Given the description of an element on the screen output the (x, y) to click on. 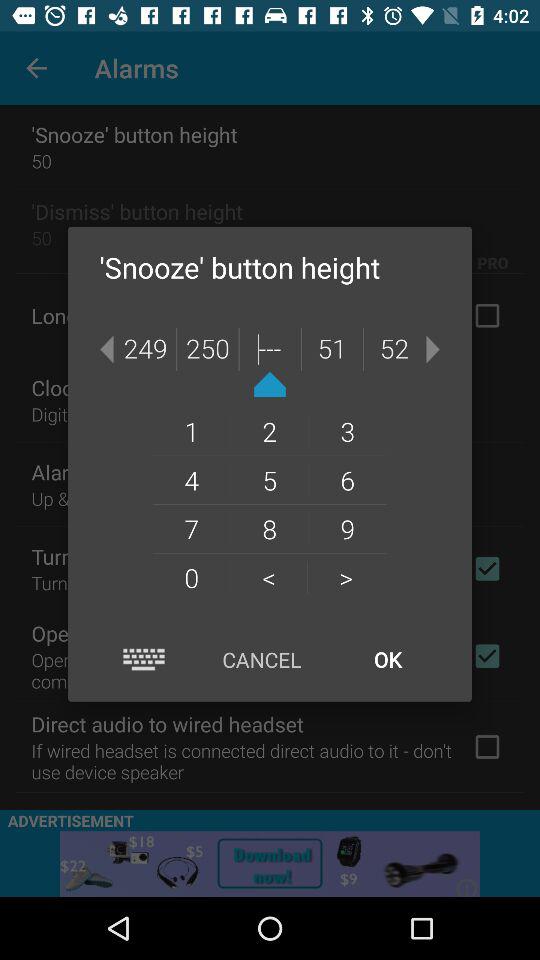
swipe to the 0 item (191, 577)
